Given the description of an element on the screen output the (x, y) to click on. 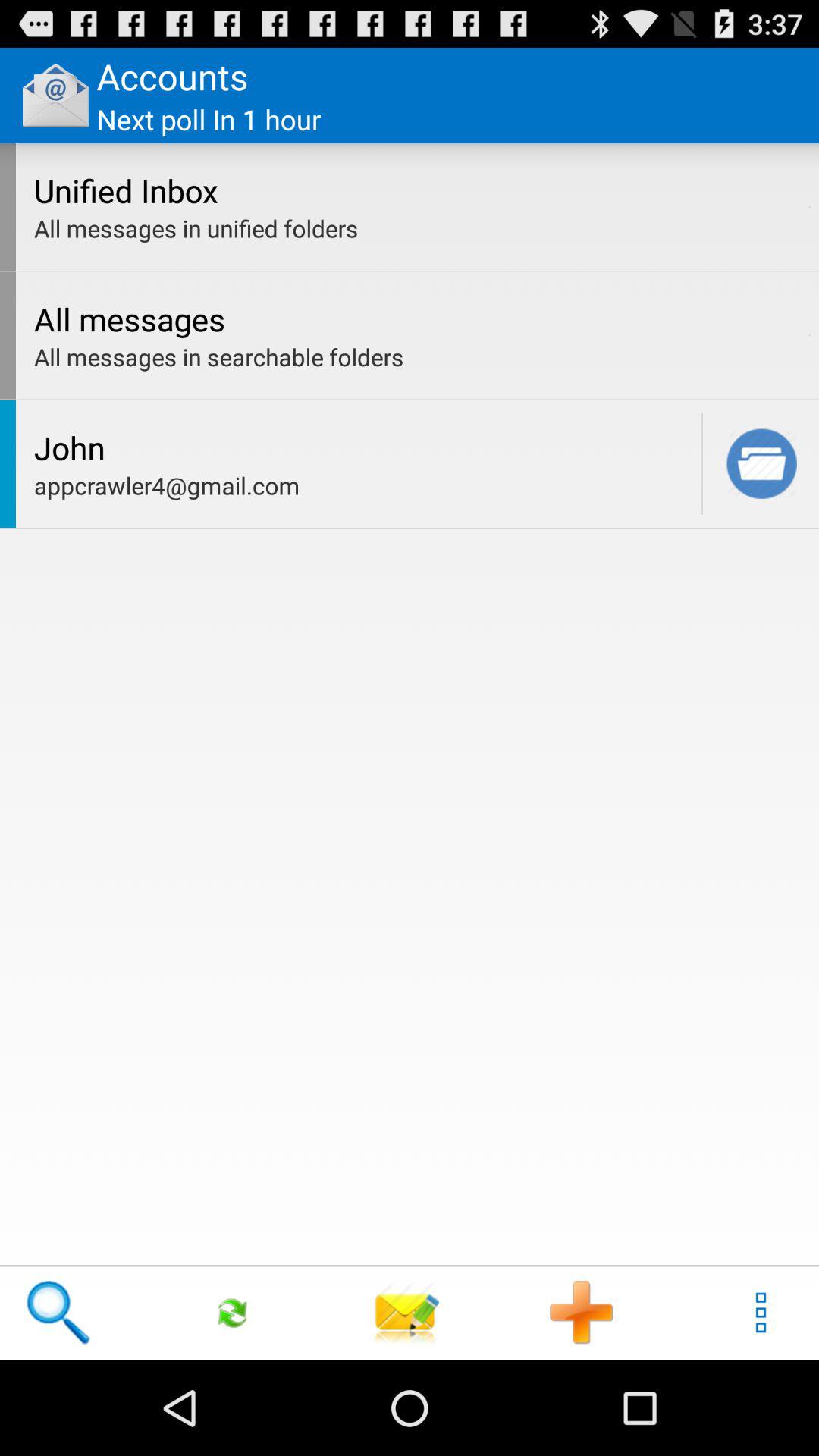
click the app above the all messages in app (809, 206)
